Given the description of an element on the screen output the (x, y) to click on. 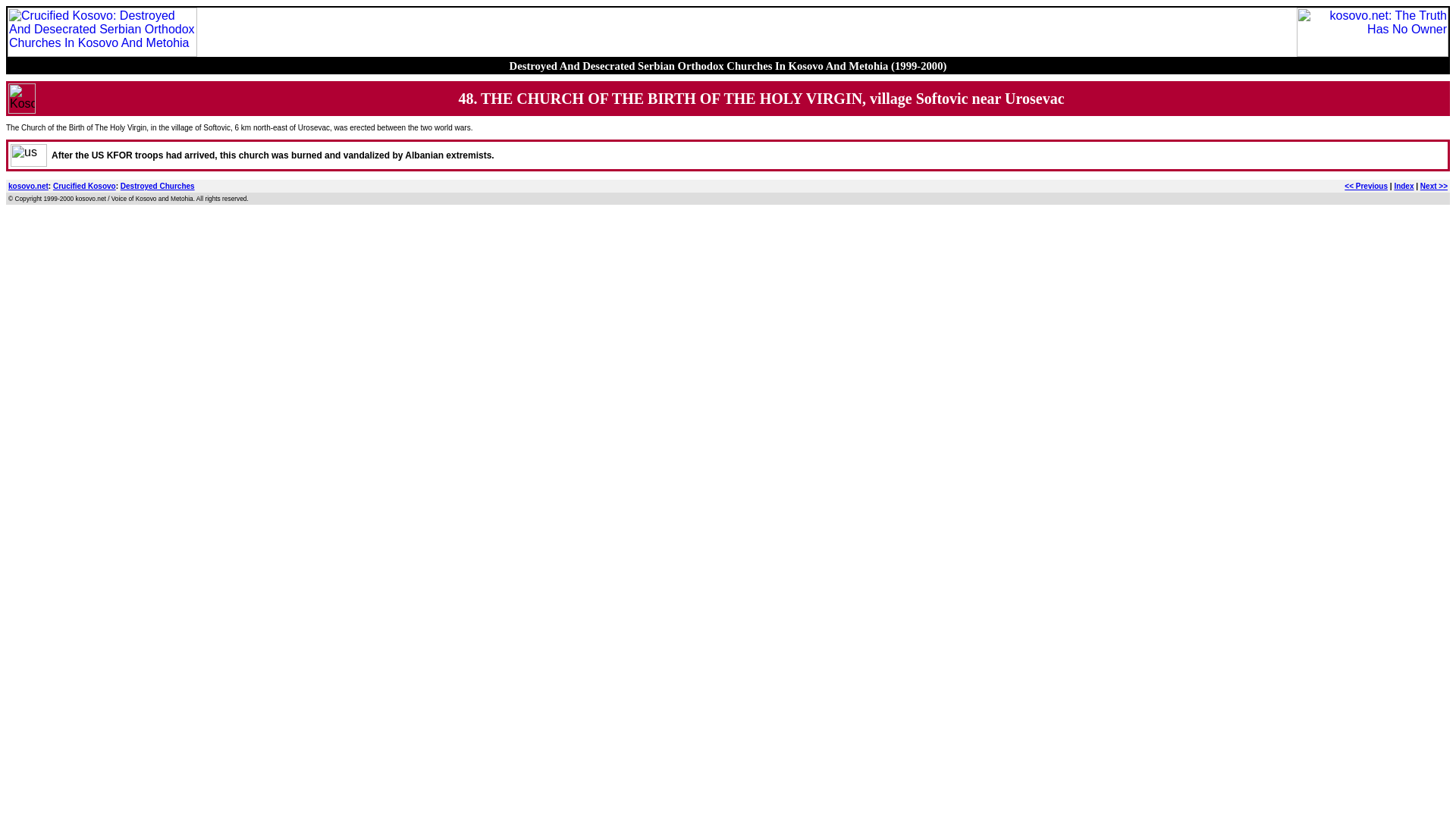
Index (1403, 185)
kosovo.net (28, 185)
Crucified Kosovo (84, 185)
Destroyed Churches (157, 185)
